Given the description of an element on the screen output the (x, y) to click on. 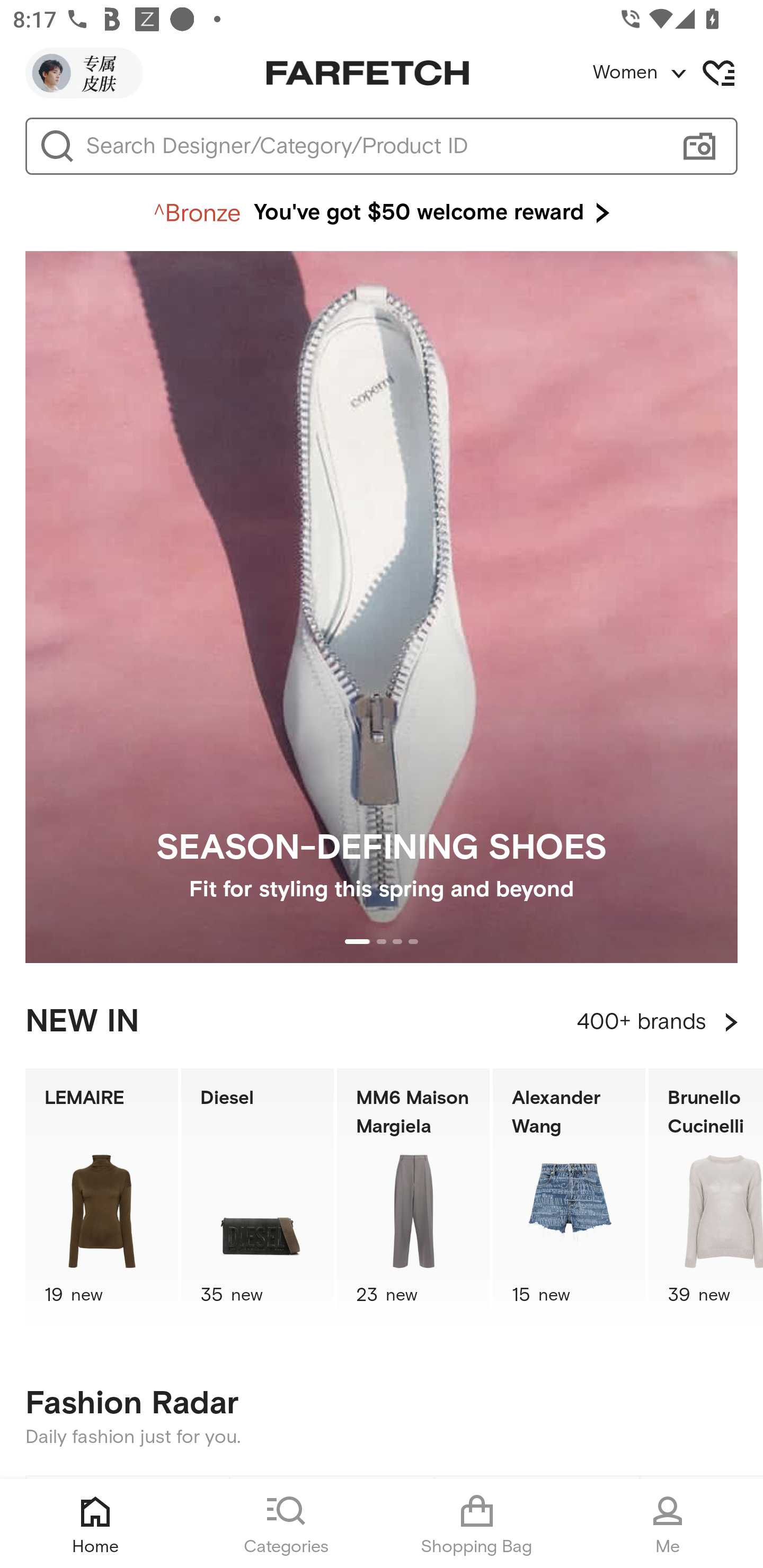
Women (677, 72)
Search Designer/Category/Product ID (373, 146)
You've got $50 welcome reward (381, 213)
NEW IN 400+ brands (381, 1021)
LEMAIRE 19  new (101, 1196)
Diesel 35  new (257, 1196)
MM6 Maison Margiela 23  new (413, 1196)
Alexander Wang 15  new (568, 1196)
Brunello Cucinelli 39  new (705, 1196)
Categories (285, 1523)
Shopping Bag (476, 1523)
Me (667, 1523)
